Given the description of an element on the screen output the (x, y) to click on. 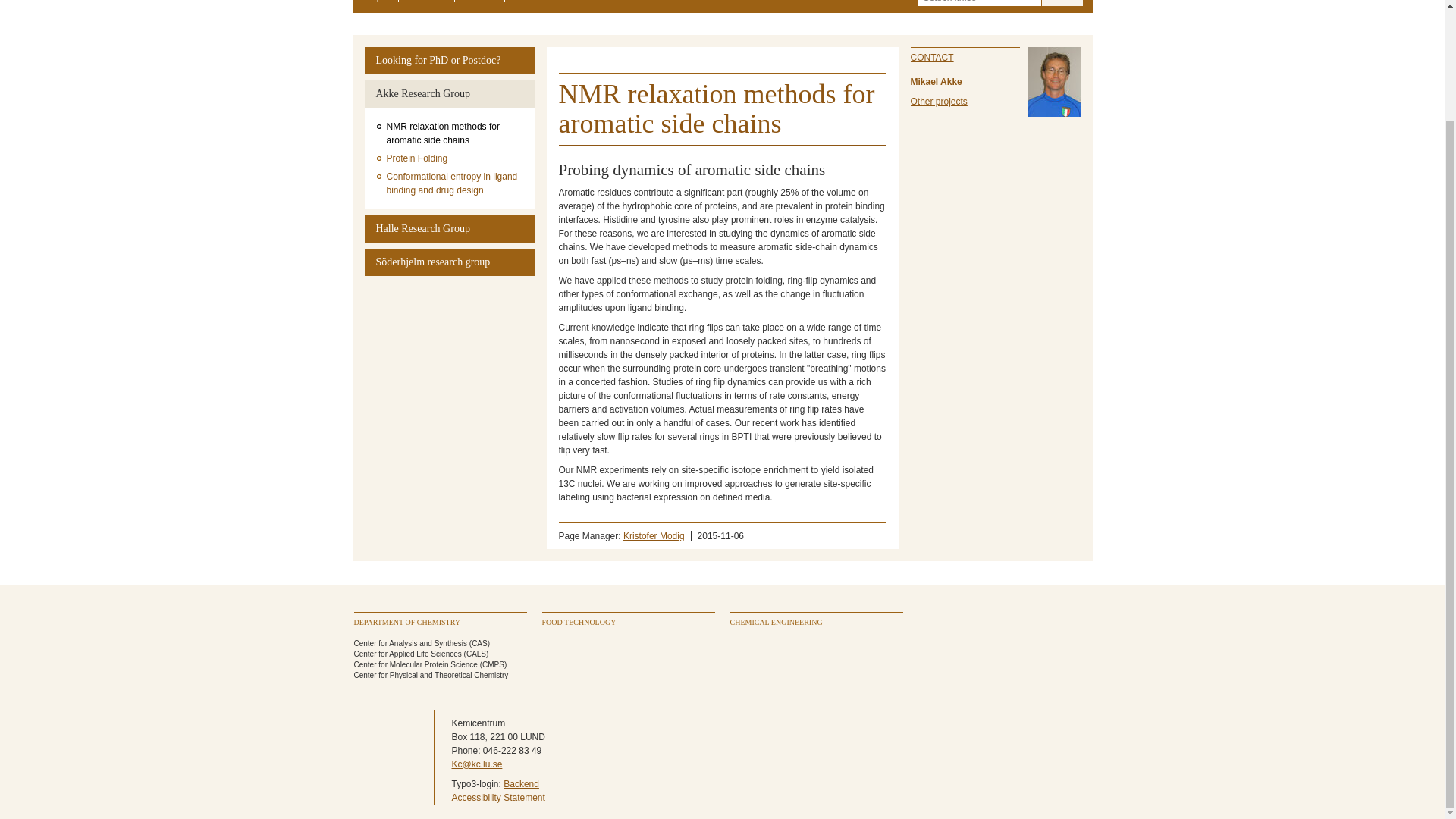
People (374, 1)
NMR relaxation methods for aromatic side chains (450, 133)
Search (1061, 2)
Akke Research Group (449, 93)
Protein Folding (450, 158)
Conformational entropy in ligand binding and drug design (450, 183)
Education (534, 1)
Search (1061, 2)
Looking for PhD or Postdoc? (449, 60)
Contact (479, 1)
